Given the description of an element on the screen output the (x, y) to click on. 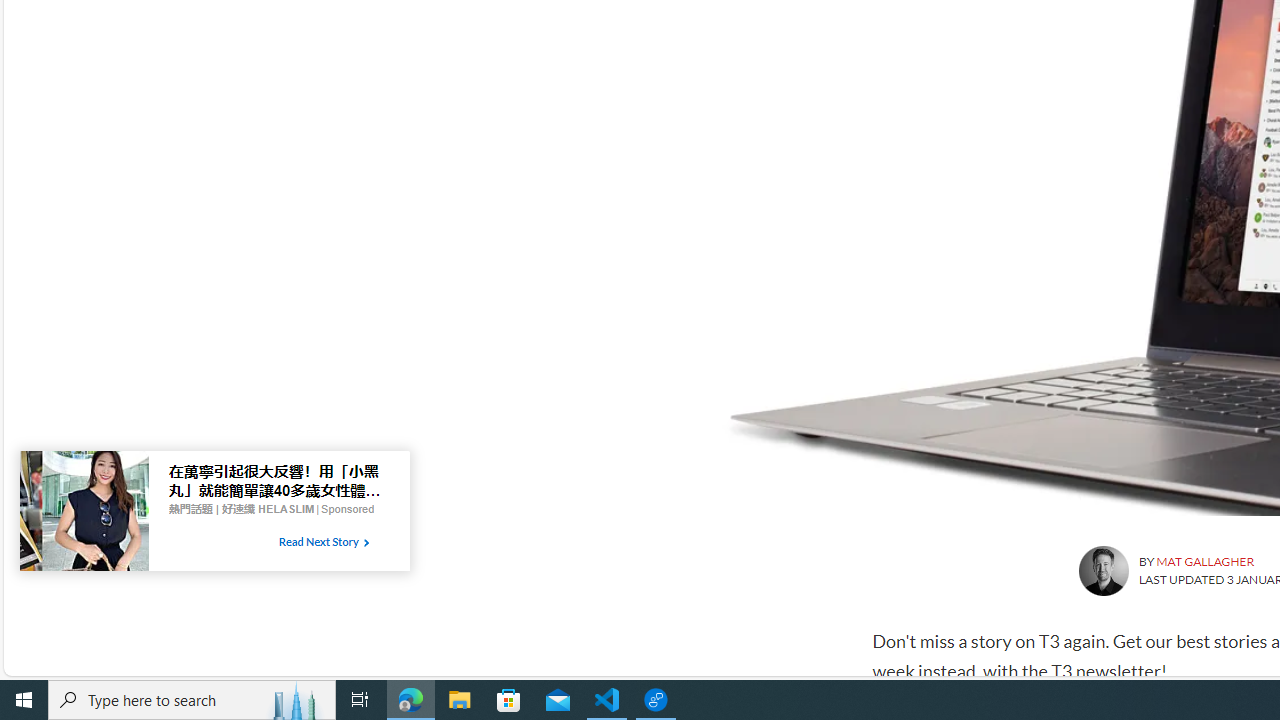
MAT GALLAGHER (1204, 561)
Class: tbl-arrow-icon arrow-2 (366, 543)
Class: tbl-arrow-icon arrow-1 (366, 543)
Image for Taboola Advertising Unit (84, 515)
Mat Gallagher (1102, 570)
Image for Taboola Advertising Unit (84, 515)
